Given the description of an element on the screen output the (x, y) to click on. 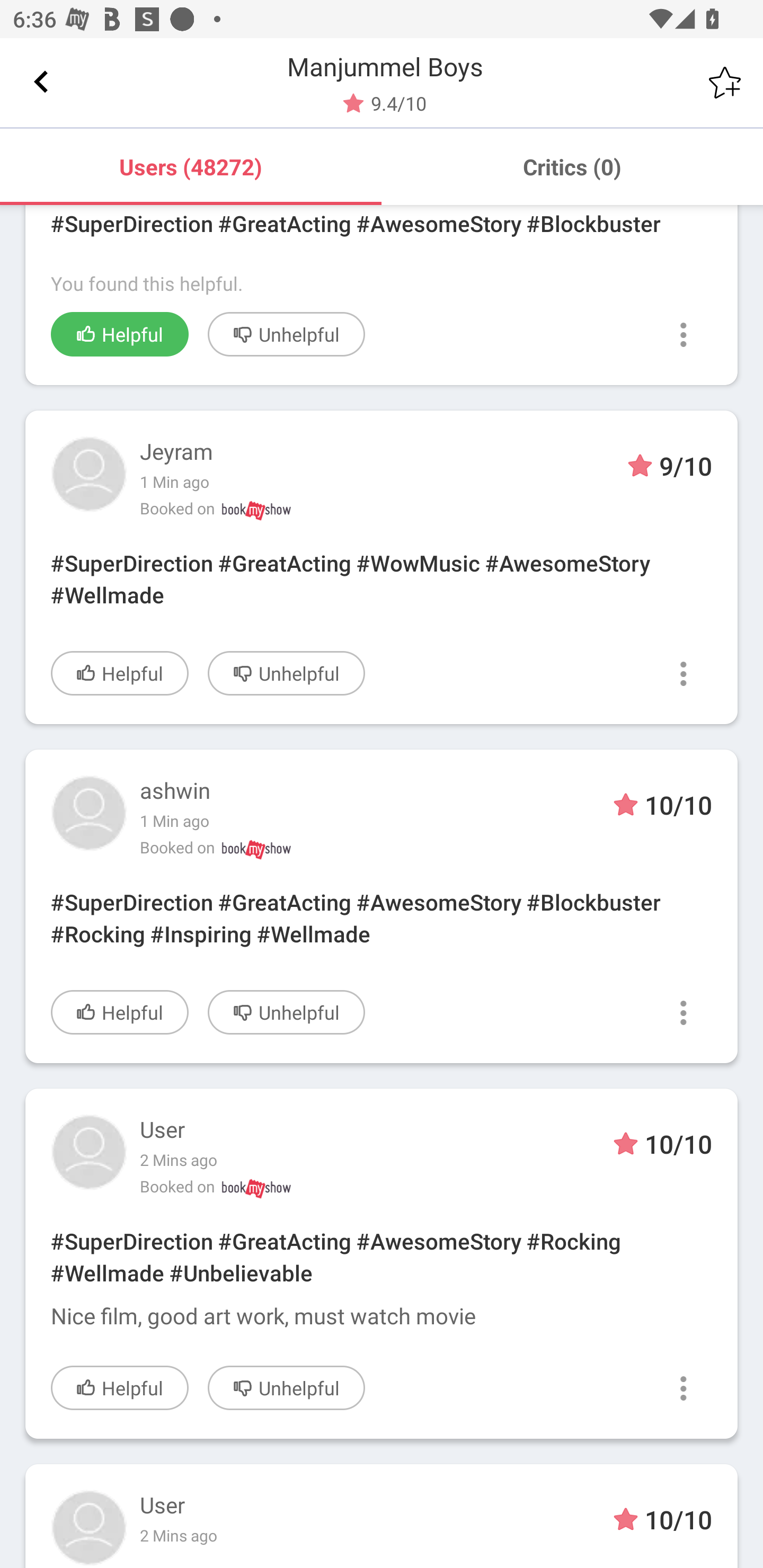
Back (41, 82)
Critics (0) (572, 166)
Helpful (119, 333)
Unhelpful (285, 333)
Helpful (119, 673)
Unhelpful (285, 673)
Helpful (119, 1011)
Unhelpful (285, 1011)
Helpful (119, 1387)
Unhelpful (285, 1387)
